Given the description of an element on the screen output the (x, y) to click on. 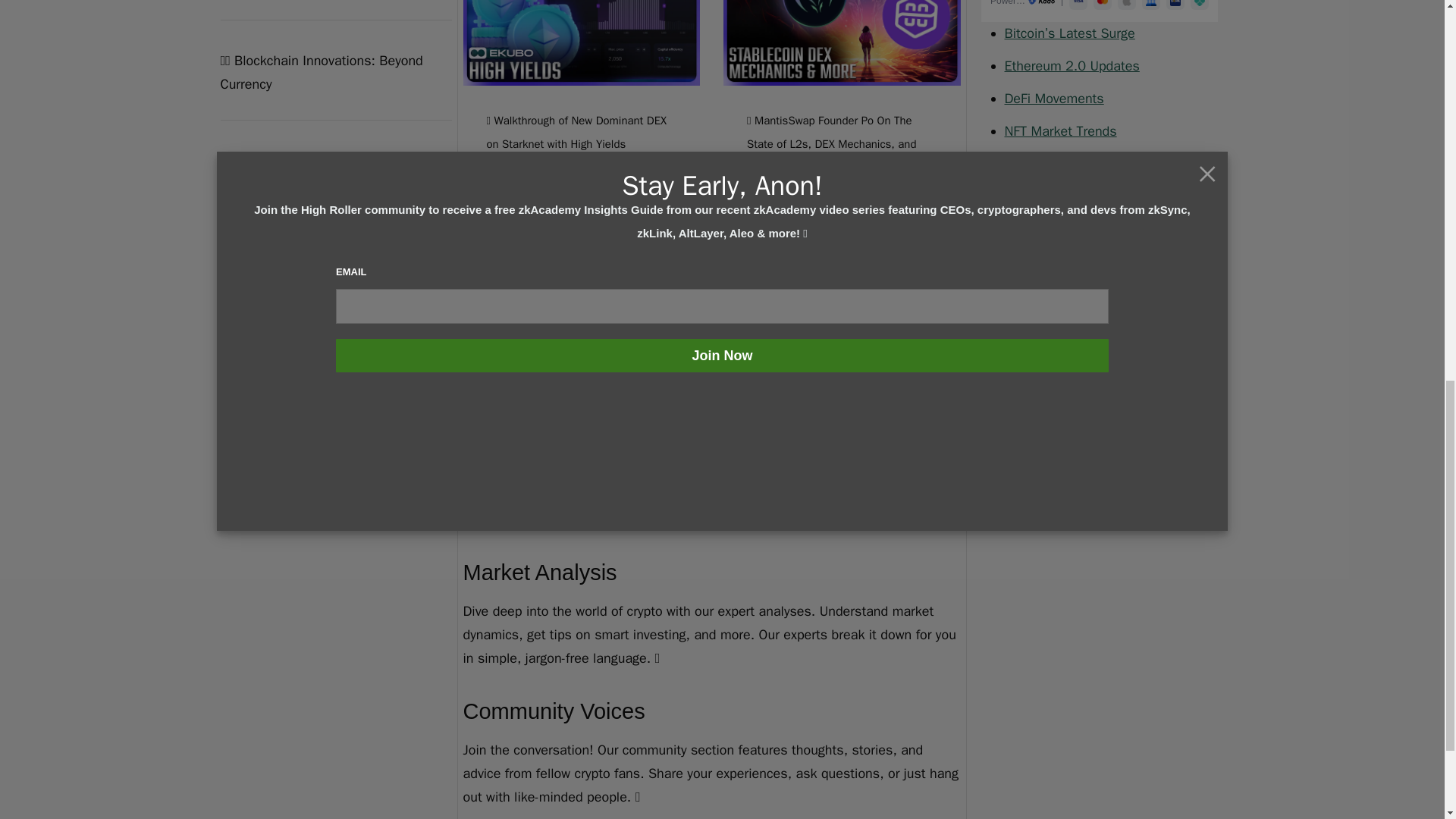
Crypto Regulation News (1074, 163)
Subscribe (1020, 325)
Ethereum 2.0 Updates (1071, 65)
DeFi Movements (1053, 98)
NFT Market Trends (1060, 130)
